Given the description of an element on the screen output the (x, y) to click on. 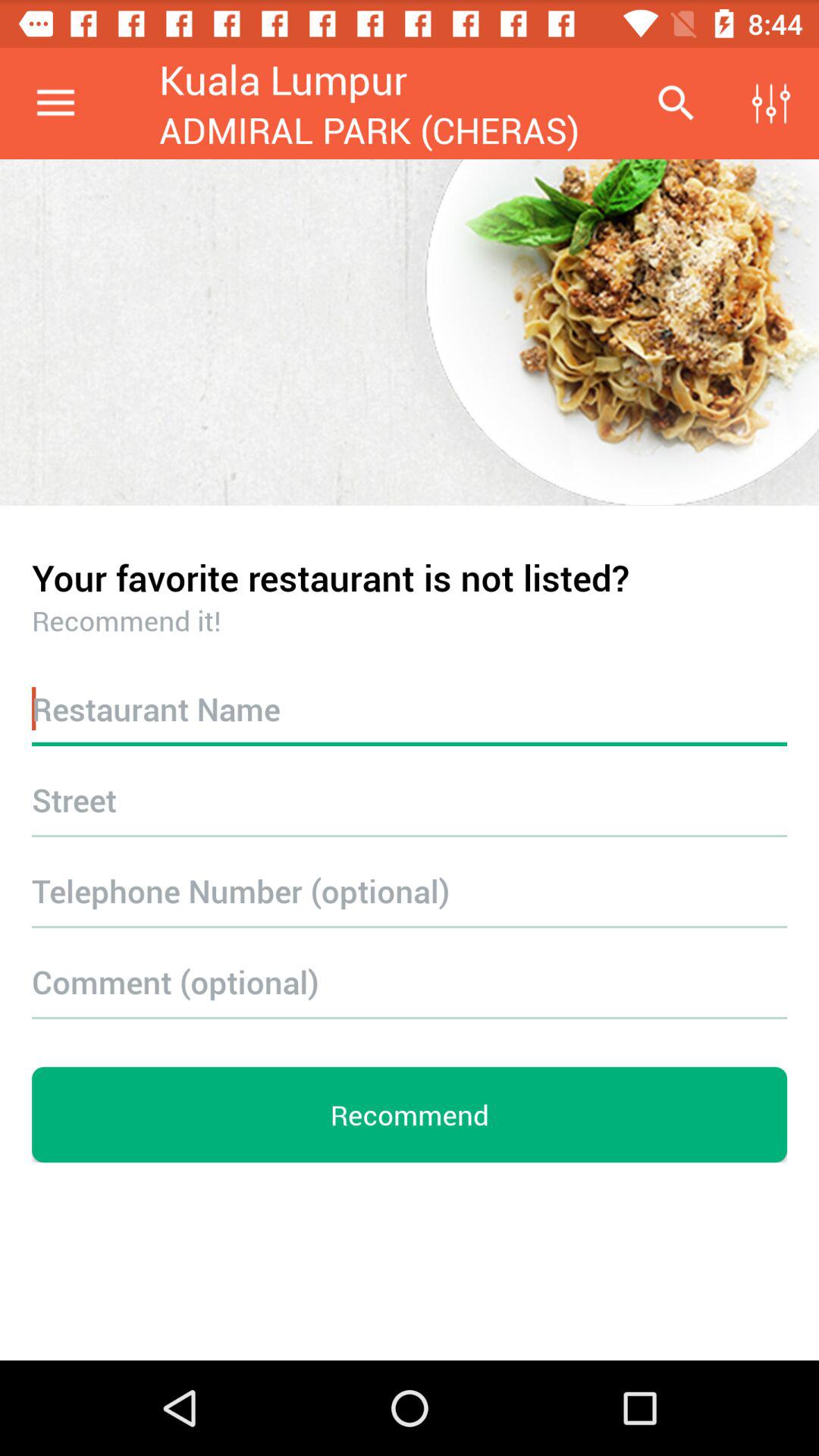
press the icon to the left of kuala lumpur icon (55, 103)
